Given the description of an element on the screen output the (x, y) to click on. 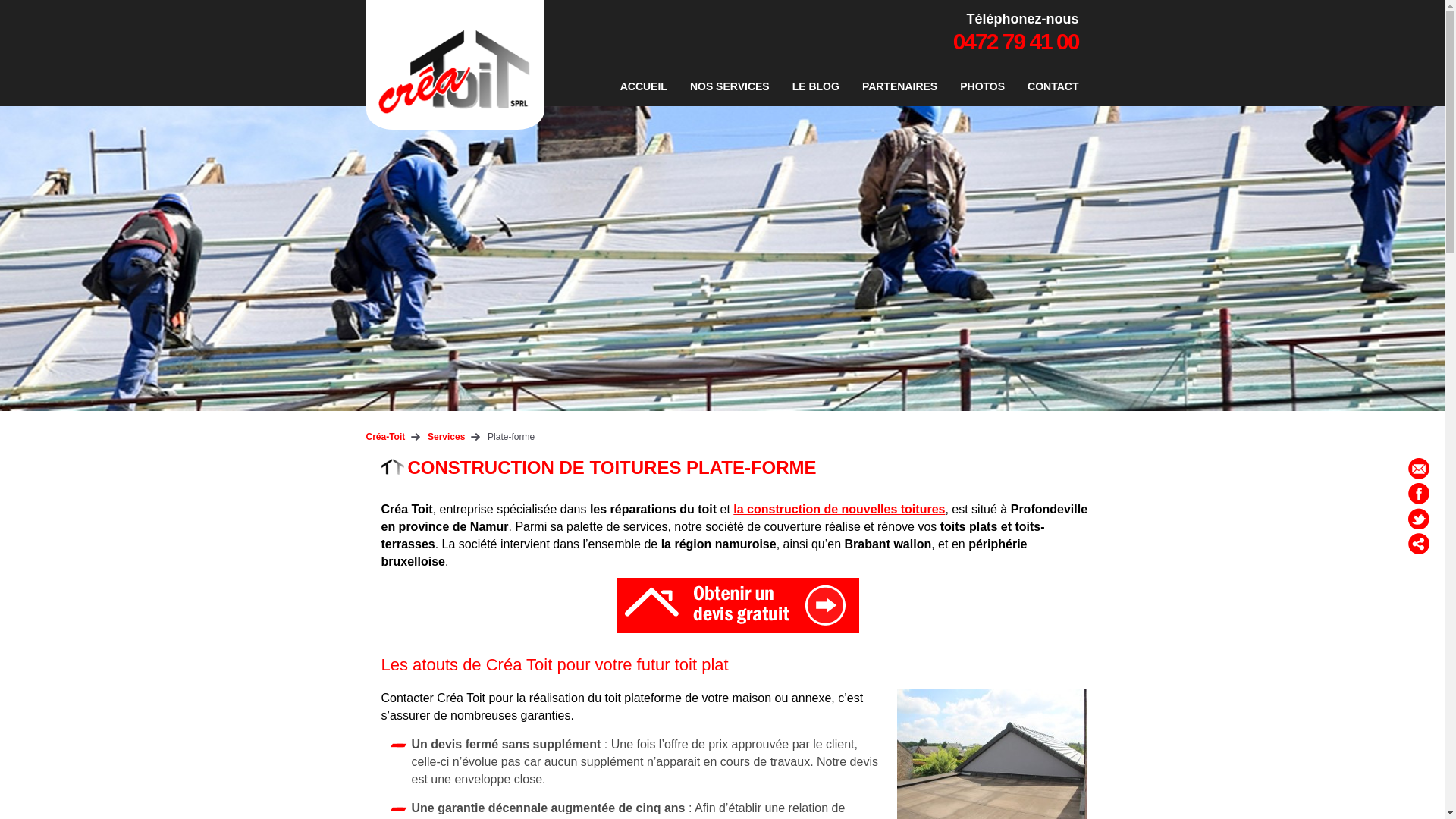
NOS SERVICES Element type: text (729, 86)
la construction de nouvelles toitures Element type: text (838, 508)
Services Element type: text (445, 436)
CONTACT Element type: text (1048, 86)
LE BLOG Element type: text (815, 86)
PARTENAIRES Element type: text (899, 86)
Contactez-nous Element type: hover (736, 605)
Partager ce contenu Element type: text (1418, 543)
ACCUEIL Element type: text (643, 86)
PHOTOS Element type: text (982, 86)
